Given the description of an element on the screen output the (x, y) to click on. 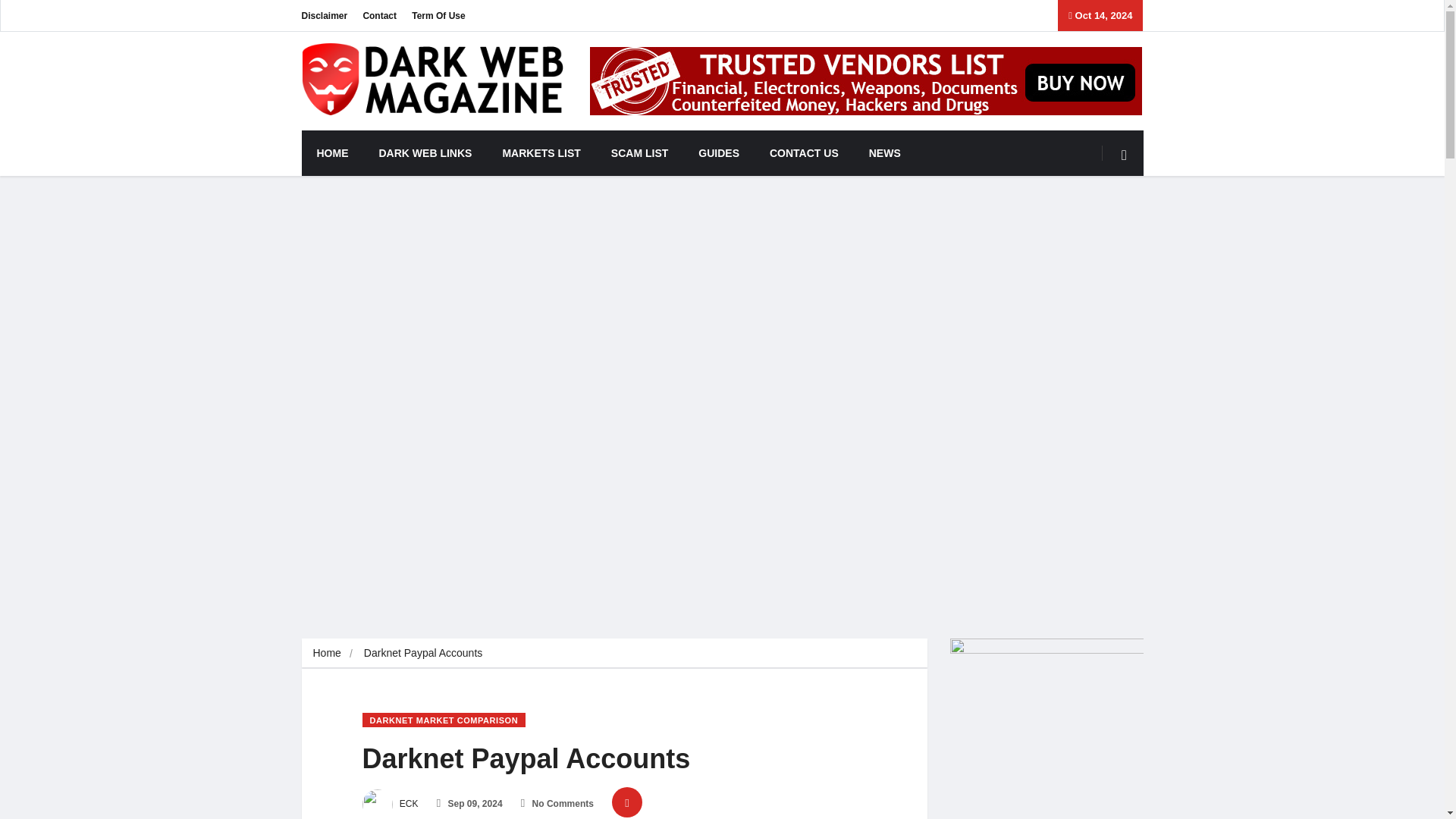
ECK (390, 803)
NEWS (884, 153)
DARK WEB LINKS (425, 153)
DARKNET MARKET COMPARISON (443, 719)
Disclaimer (324, 15)
HOME (332, 153)
GUIDES (718, 153)
Home (326, 653)
Contact (379, 15)
Term Of Use (438, 15)
